Given the description of an element on the screen output the (x, y) to click on. 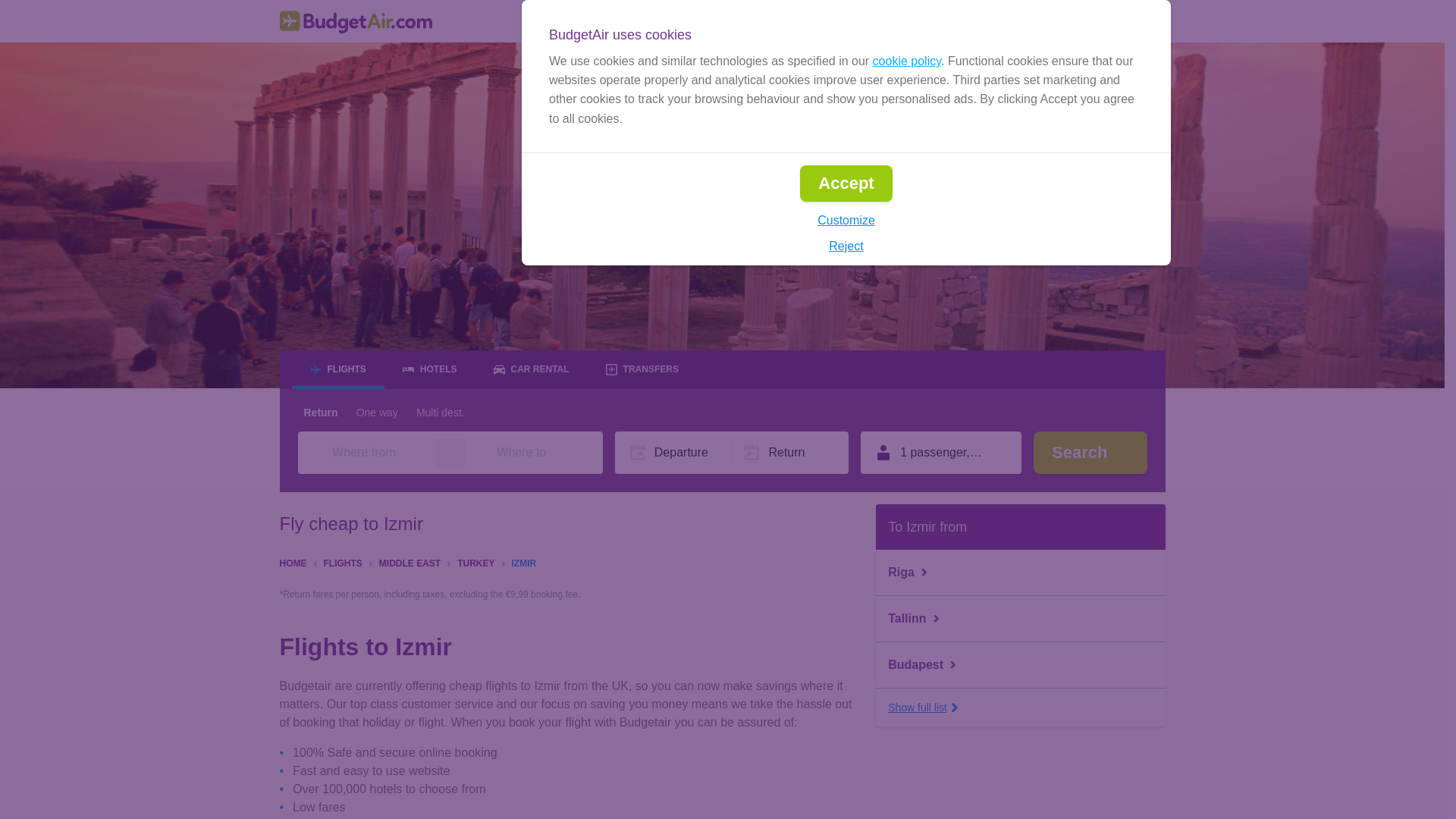
TURKEY (476, 562)
HOME (292, 562)
Accept (845, 183)
My Account (1116, 21)
FLIGHTS (342, 562)
English (902, 21)
cookie policy (906, 60)
Search (1090, 452)
MIDDLE EAST (409, 562)
